Given the description of an element on the screen output the (x, y) to click on. 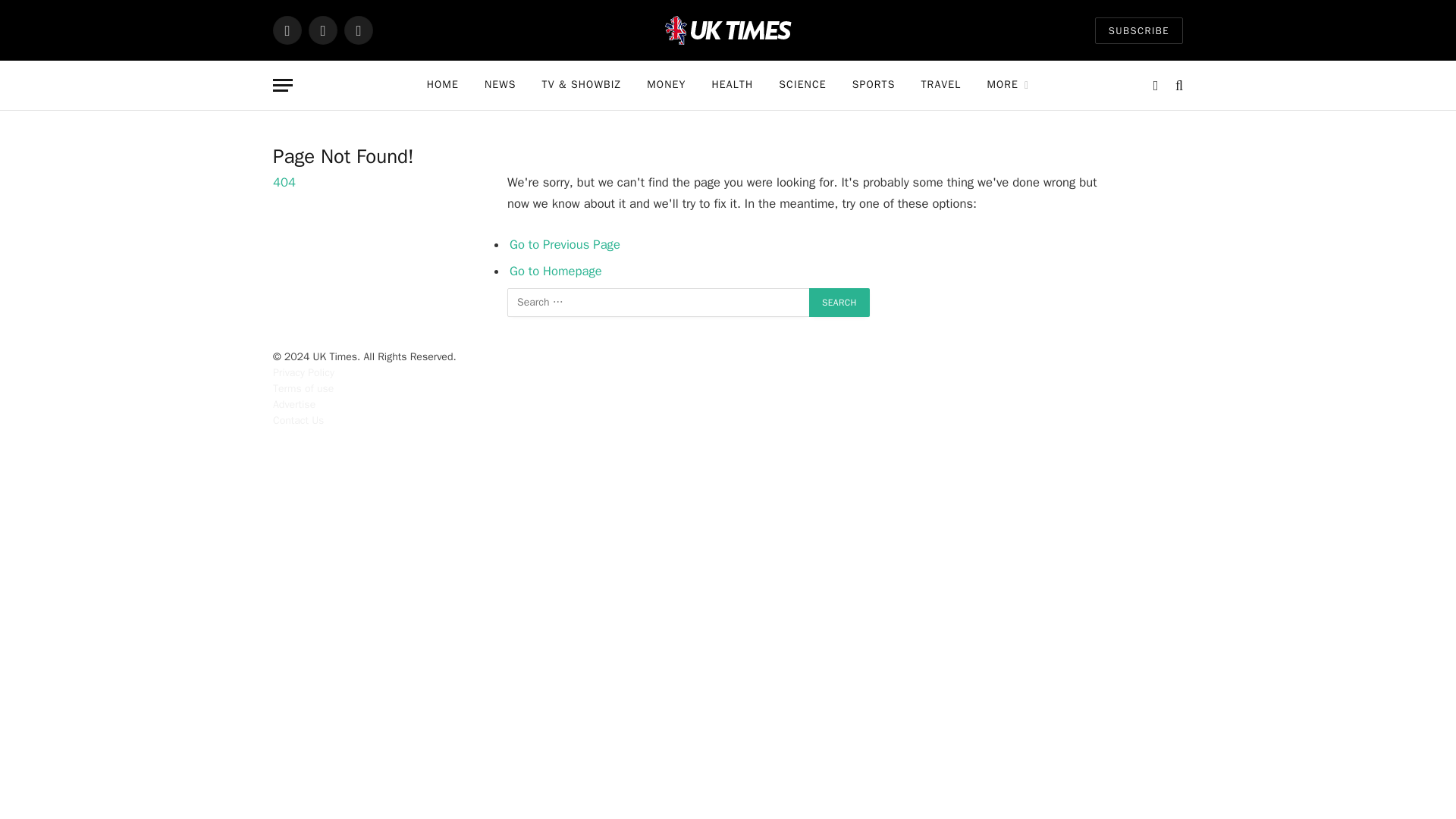
NEWS (500, 84)
Instagram (357, 30)
UK Times (727, 30)
HEALTH (731, 84)
TRAVEL (941, 84)
SPORTS (874, 84)
Search (839, 302)
MORE (1008, 84)
Search (839, 302)
Switch to Dark Design - easier on eyes. (1155, 85)
SCIENCE (801, 84)
Facebook (287, 30)
MONEY (665, 84)
SUBSCRIBE (1138, 29)
HOME (442, 84)
